Given the description of an element on the screen output the (x, y) to click on. 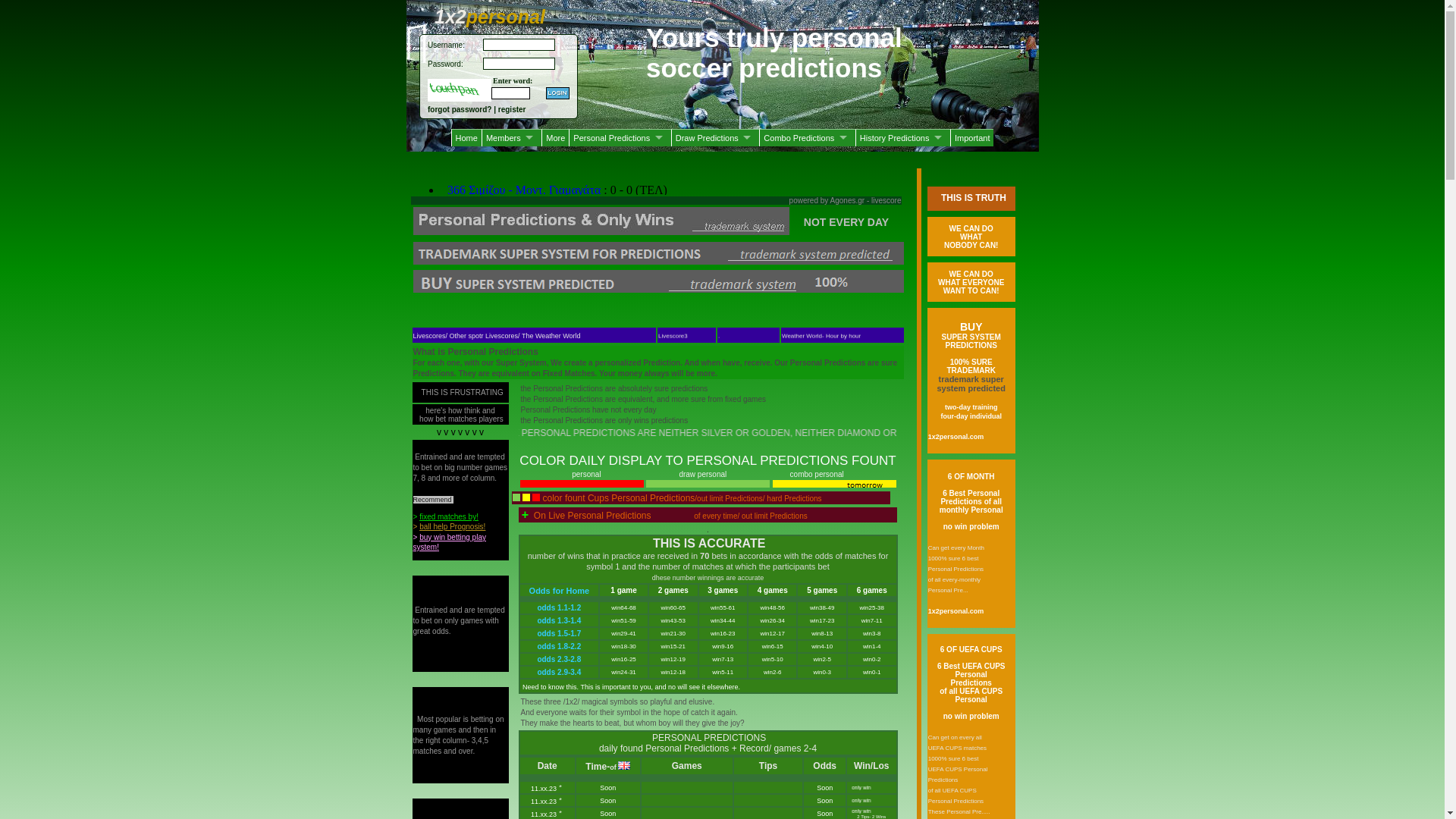
livescore Element type: text (885, 200)
History Predictions Element type: text (902, 137)
Weather World- Countries Element type: text (815, 340)
Combo Predictions Element type: text (806, 137)
two-day training Element type: text (970, 406)
Livescore2 Element type: text (672, 327)
Members Element type: text (511, 137)
WE CAN DO
WHAT
NOBODY CAN! Element type: text (970, 236)
. Element type: text (720, 285)
. Element type: text (717, 296)
Weather World- 2 Week Forecast Element type: text (825, 296)
Weather World- Local Element type: text (810, 308)
Personal Predictions Element type: text (619, 137)
Draw Predictions Element type: text (715, 137)
Baseball Element type: text (728, 339)
. Element type: text (717, 317)
Livescore6 Element type: text (672, 284)
WE CAN DO
WHAT EVERYONE
WANT TO CAN! Element type: text (971, 281)
Agones.gr Element type: text (847, 200)
Weather World- Hour by hour Element type: text (820, 318)
four-day individual Element type: text (970, 415)
Full Livescore Element type: text (676, 273)
BUY
SUPER SYSTEM
PREDICTIONS

100% SURE
TRADEMARK Element type: text (971, 348)
Livescore1 Element type: text (672, 338)
Livescore4 Element type: text (672, 306)
register Element type: text (512, 109)
Weather World- Cities Element type: text (810, 329)
Home Element type: text (466, 137)
. Element type: text (717, 306)
1x2personal Element type: text (495, 17)
> ball help Prognosis! Element type: text (448, 526)
Livescore5 Element type: text (672, 294)
Livescore3 Element type: text (672, 316)
  Element type: text (557, 93)
> buy win betting play system! Element type: text (448, 542)
forgot password? Element type: text (459, 109)
> fixed matches by! Element type: text (444, 516)
NFL Element type: text (722, 328)
More Element type: text (554, 137)
Important Element type: text (971, 137)
